Given the description of an element on the screen output the (x, y) to click on. 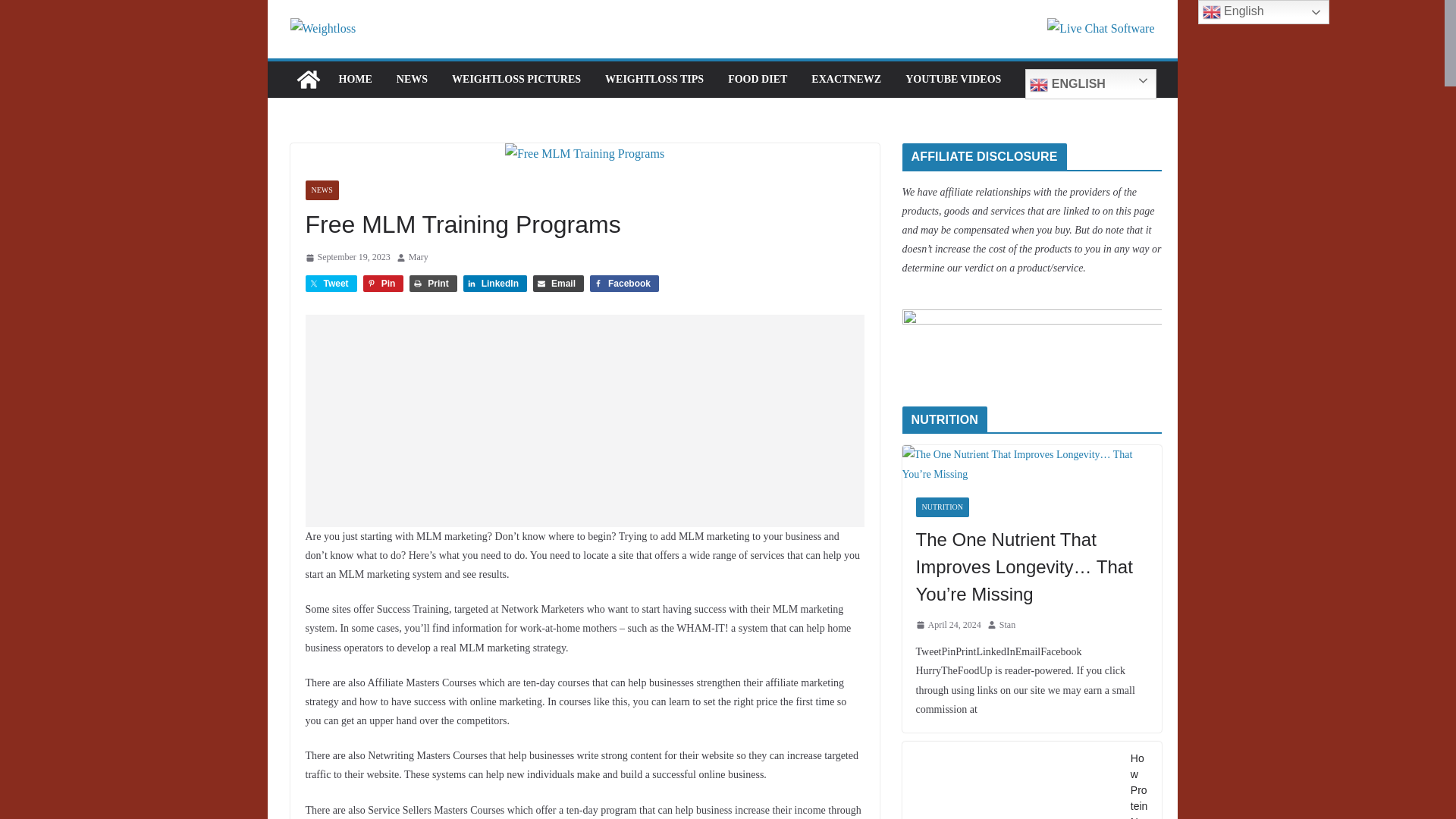
FOOD DIET (757, 79)
View a random post (1136, 79)
Email (557, 283)
WEIGHTLOSS TIPS (654, 79)
HOME (354, 79)
EXACTNEWZ (845, 79)
NEWS (412, 79)
WEIGHTLOSS PICTURES (515, 79)
YOUTUBE VIDEOS (953, 79)
Weightloss (307, 79)
